Given the description of an element on the screen output the (x, y) to click on. 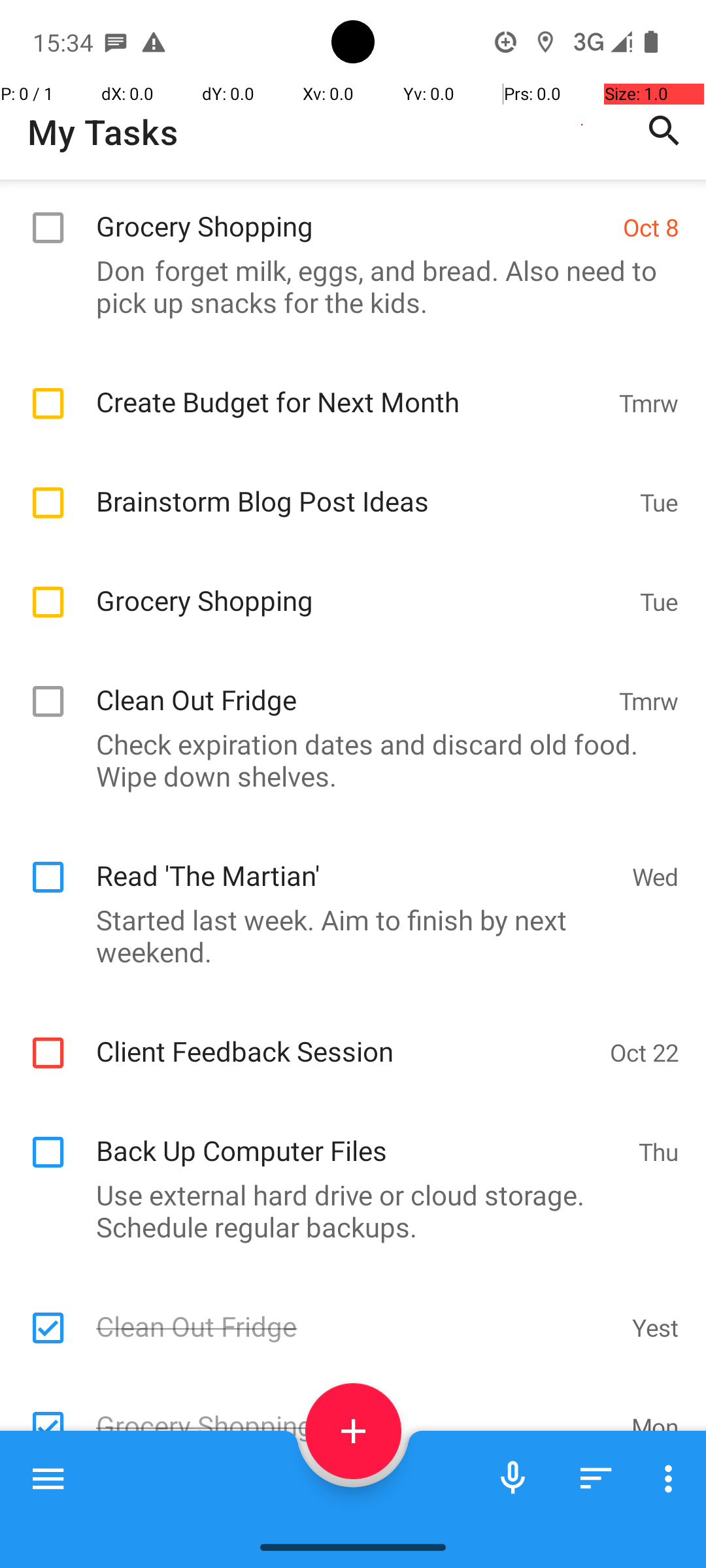
Grocery Shopping Element type: android.widget.TextView (352, 211)
Don	 forget milk, eggs, and bread. Also need to pick up snacks for the kids. Element type: android.widget.TextView (346, 285)
Oct 8 Element type: android.widget.TextView (650, 226)
Create Budget for Next Month Element type: android.widget.TextView (350, 387)
Tmrw Element type: android.widget.TextView (648, 402)
Brainstorm Blog Post Ideas Element type: android.widget.TextView (361, 486)
Clean Out Fridge Element type: android.widget.TextView (350, 685)
Check expiration dates and discard old food. Wipe down shelves. Element type: android.widget.TextView (346, 759)
Read 'The Martian' Element type: android.widget.TextView (357, 861)
Started last week. Aim to finish by next weekend. Element type: android.widget.TextView (346, 935)
Client Feedback Session Element type: android.widget.TextView (346, 1036)
Oct 22 Element type: android.widget.TextView (644, 1051)
Back Up Computer Files Element type: android.widget.TextView (360, 1136)
Use external hard drive or cloud storage. Schedule regular backups. Element type: android.widget.TextView (346, 1210)
